Given the description of an element on the screen output the (x, y) to click on. 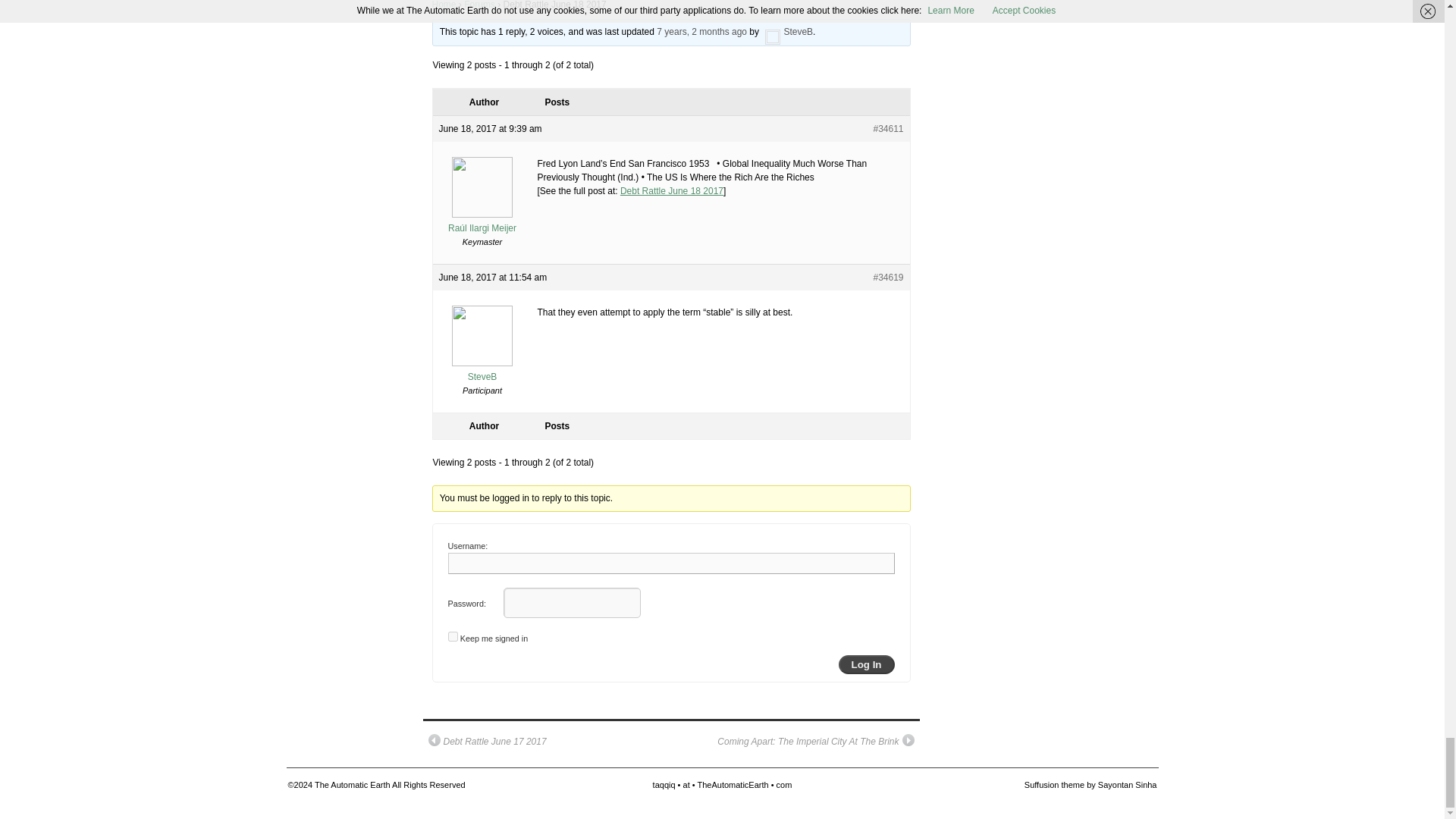
View SteveB's profile (481, 370)
forever (451, 636)
Reply To: Debt Rattle June 18 2017 (701, 31)
View SteveB's profile (786, 31)
